Given the description of an element on the screen output the (x, y) to click on. 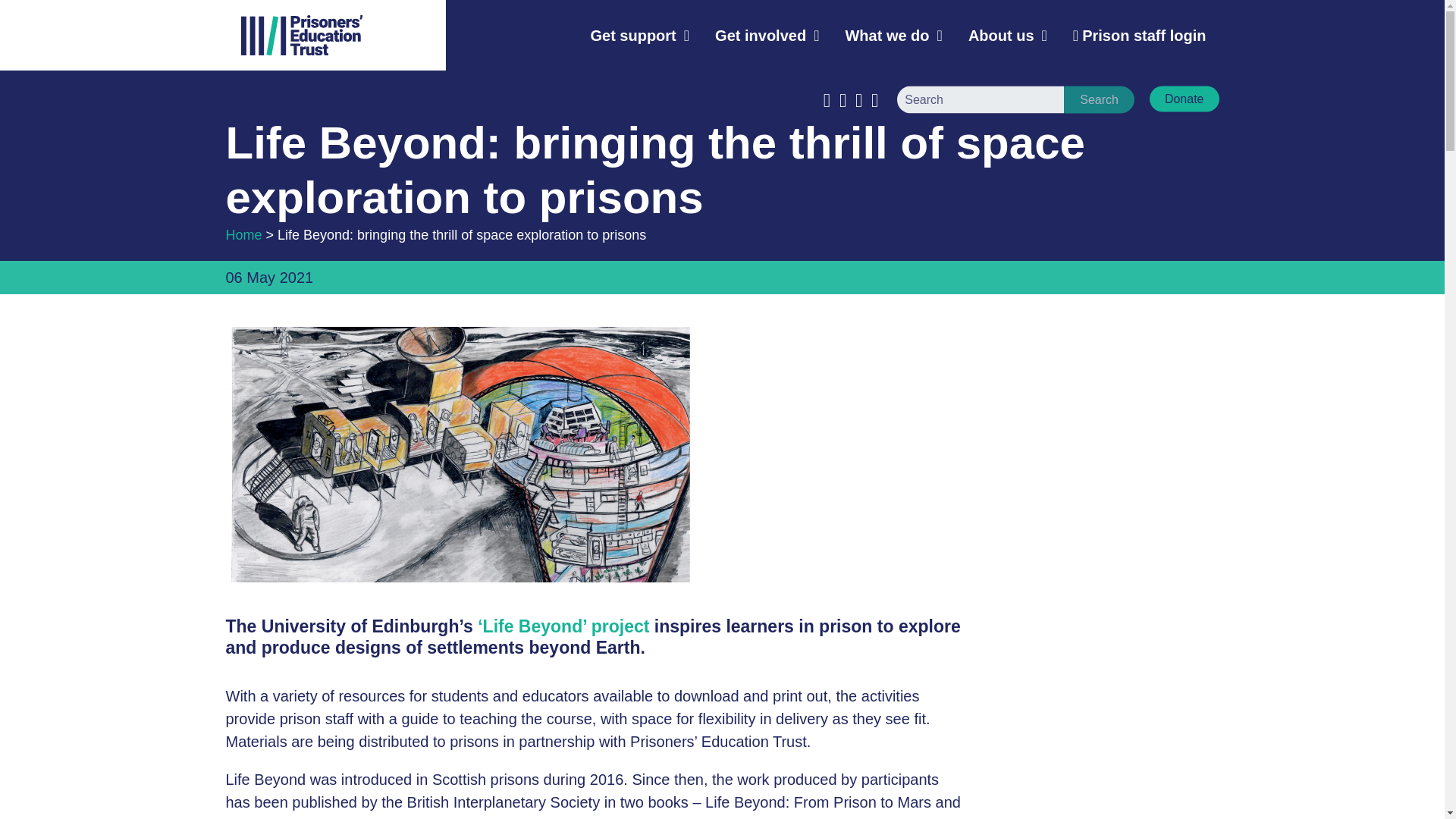
About us (1007, 35)
Search (1099, 99)
What we do (893, 35)
Get involved (766, 35)
Donate (1185, 98)
Get support (638, 35)
Search (1099, 99)
